Given the description of an element on the screen output the (x, y) to click on. 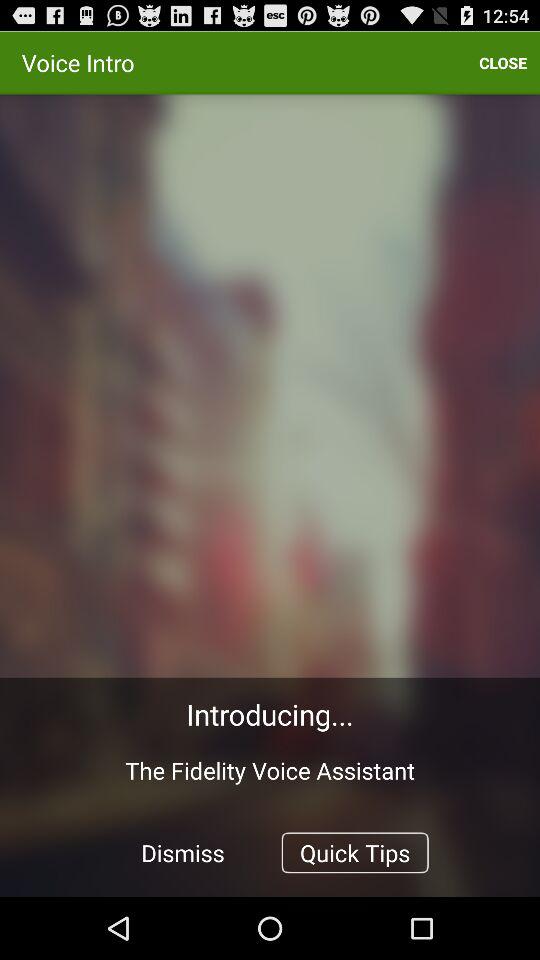
turn off item to the right of dismiss button (354, 852)
